Given the description of an element on the screen output the (x, y) to click on. 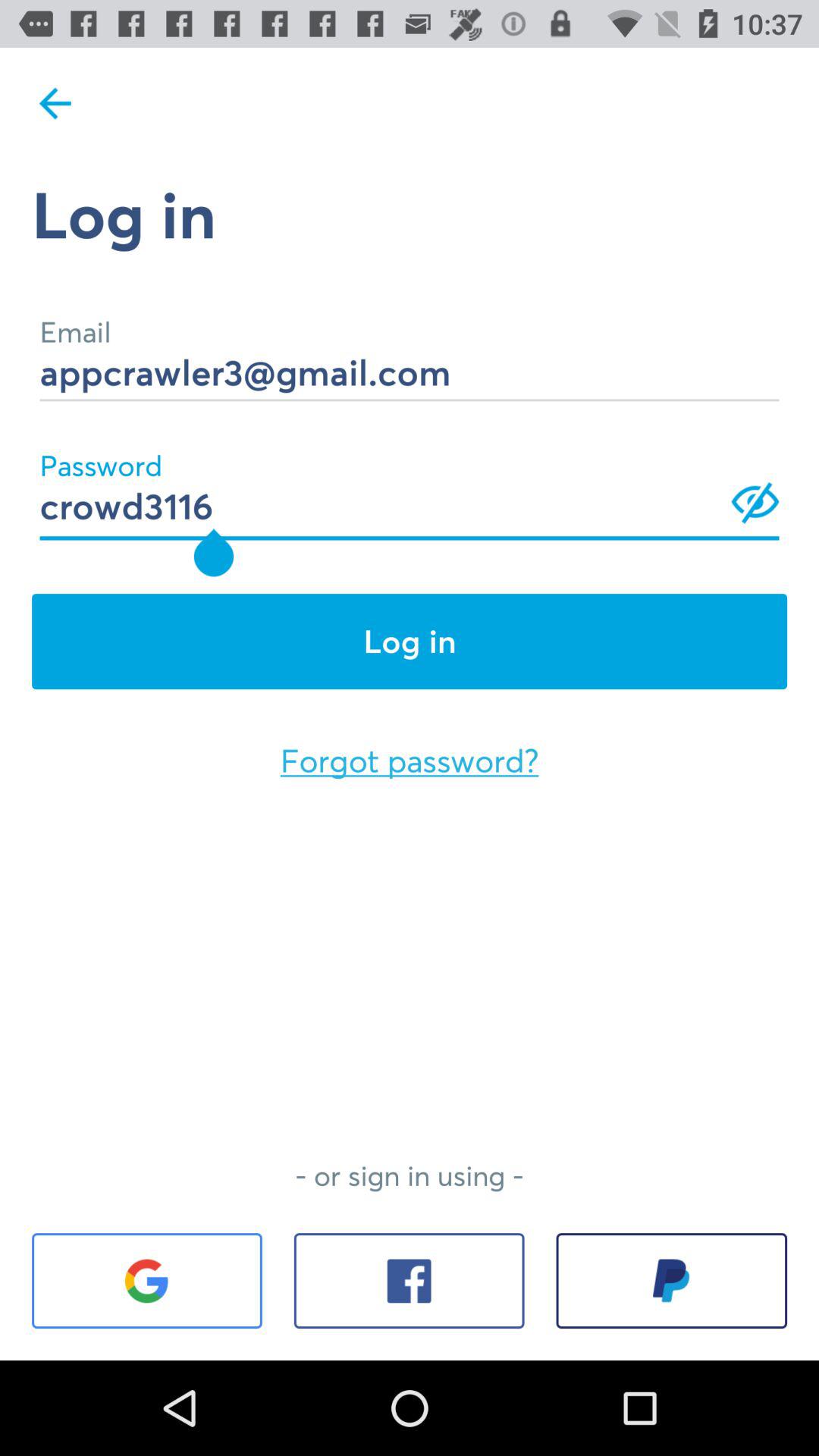
open the icon below appcrawler3@gmail.com icon (409, 484)
